Given the description of an element on the screen output the (x, y) to click on. 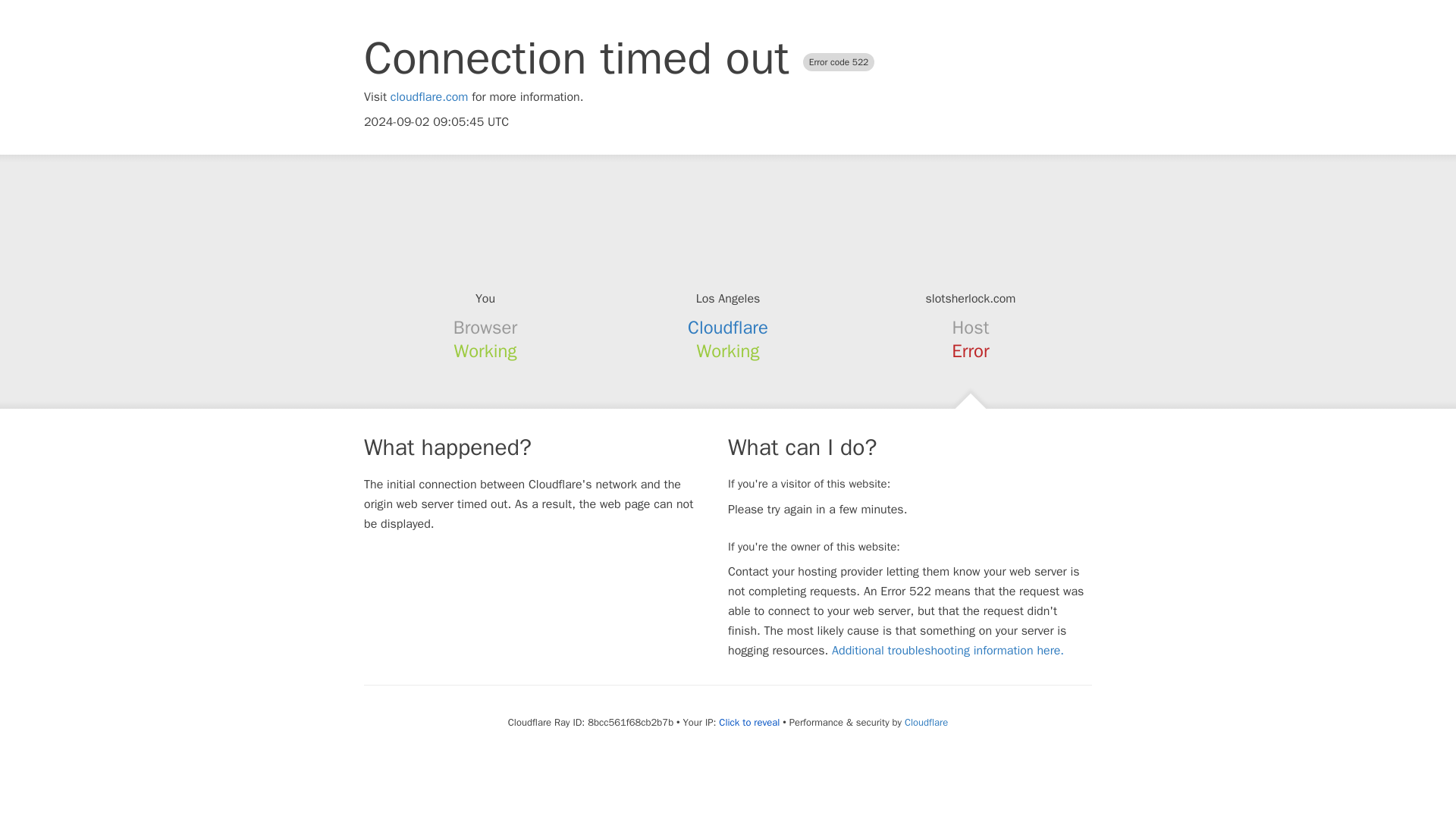
Cloudflare (925, 721)
Additional troubleshooting information here. (947, 650)
Click to reveal (748, 722)
cloudflare.com (429, 96)
Cloudflare (727, 327)
